Given the description of an element on the screen output the (x, y) to click on. 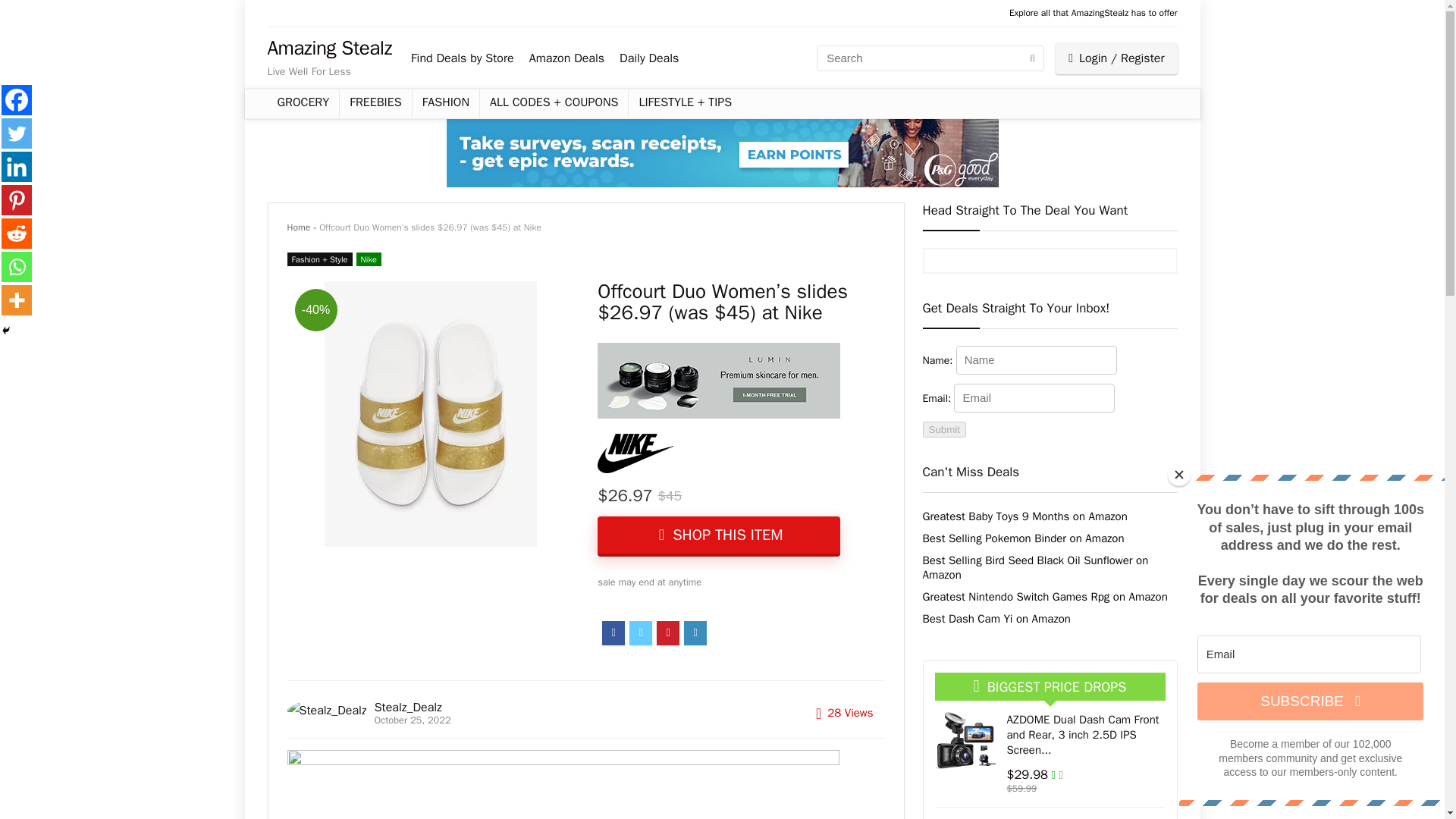
Nike (368, 259)
More (16, 300)
Pinterest (16, 200)
FREEBIES (374, 103)
GROCERY (302, 103)
Linkedin (16, 166)
Whatsapp (16, 266)
Reddit (16, 233)
SUBSCRIBE (1309, 701)
Facebook (16, 100)
